Given the description of an element on the screen output the (x, y) to click on. 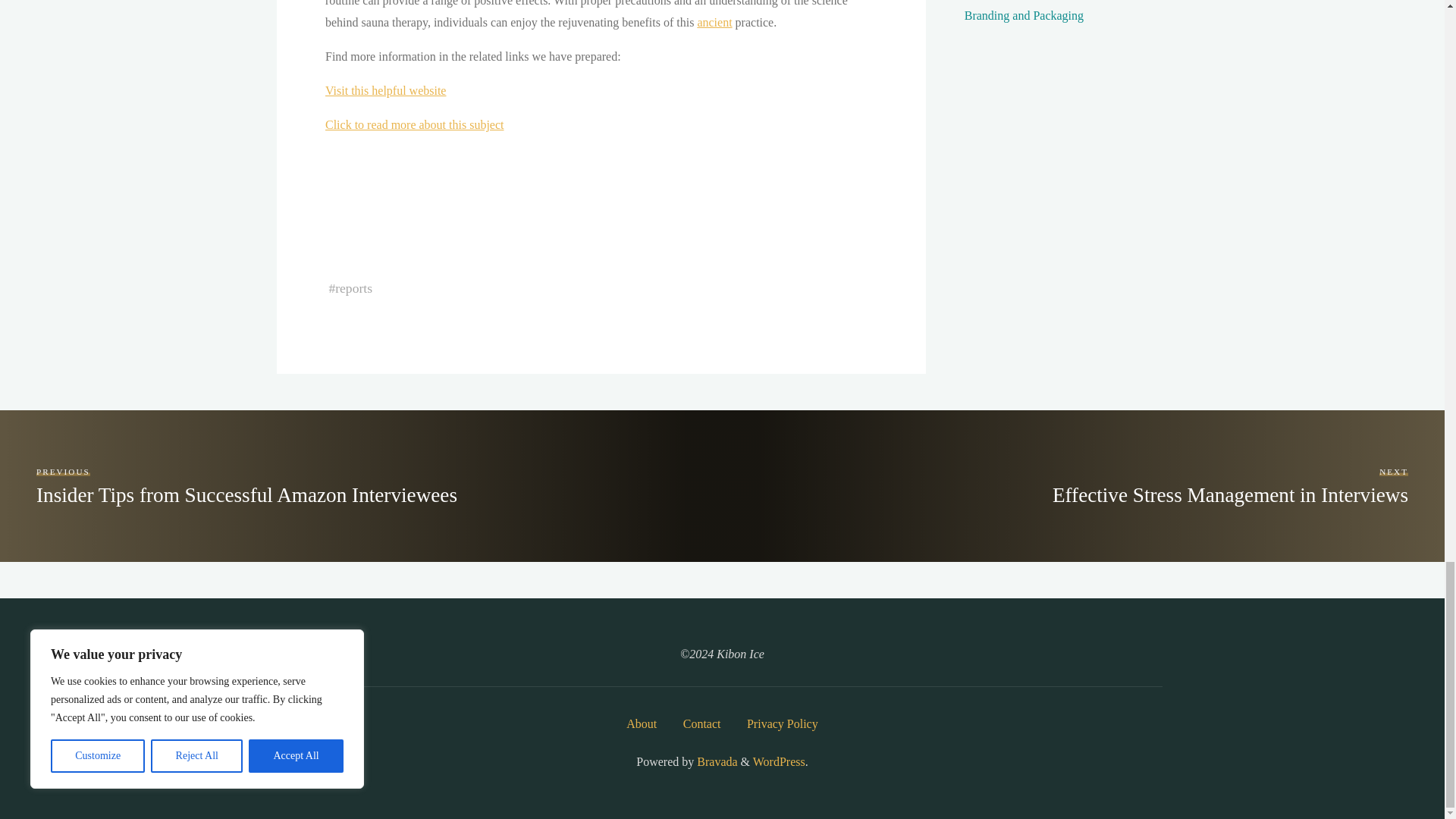
reports (353, 287)
Click to read more about this subject (413, 124)
Semantic Personal Publishing Platform (778, 761)
Visit this helpful website (384, 90)
Bravada WordPress Theme by Cryout Creations (715, 761)
ancient (714, 21)
